Given the description of an element on the screen output the (x, y) to click on. 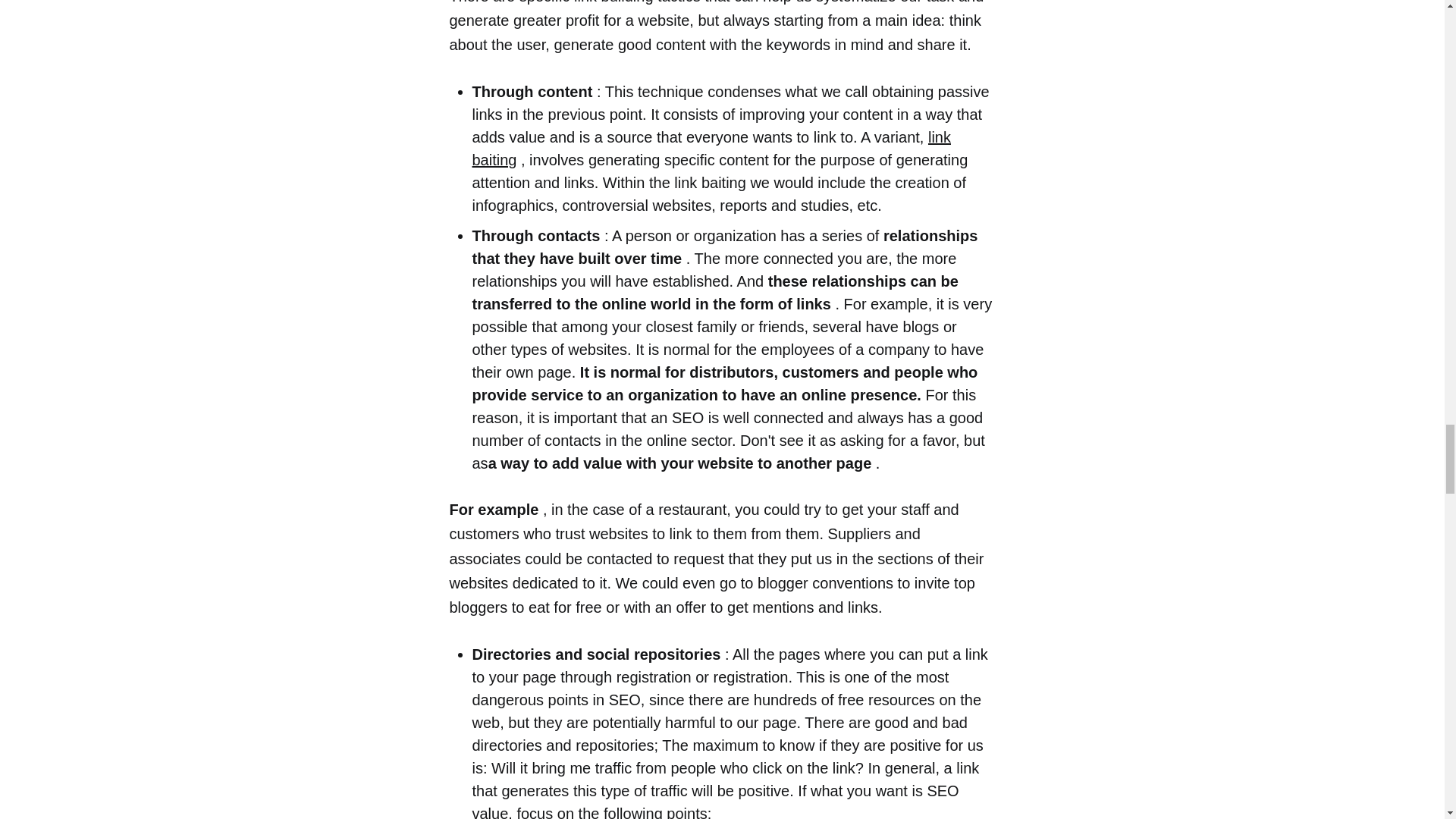
link baiting (710, 148)
